Given the description of an element on the screen output the (x, y) to click on. 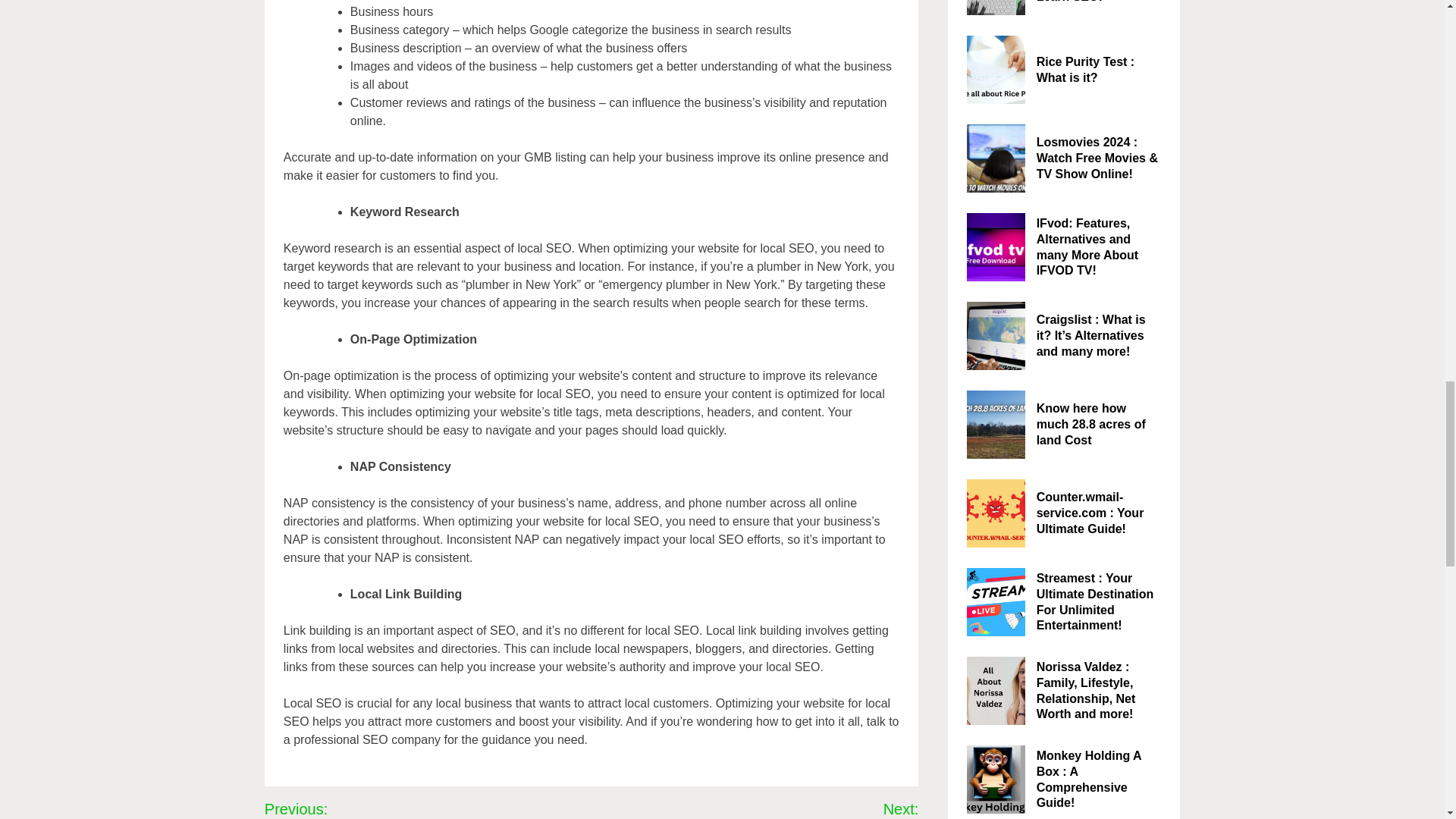
Previous: Why VR is the future of Video Gaming (387, 808)
